Given the description of an element on the screen output the (x, y) to click on. 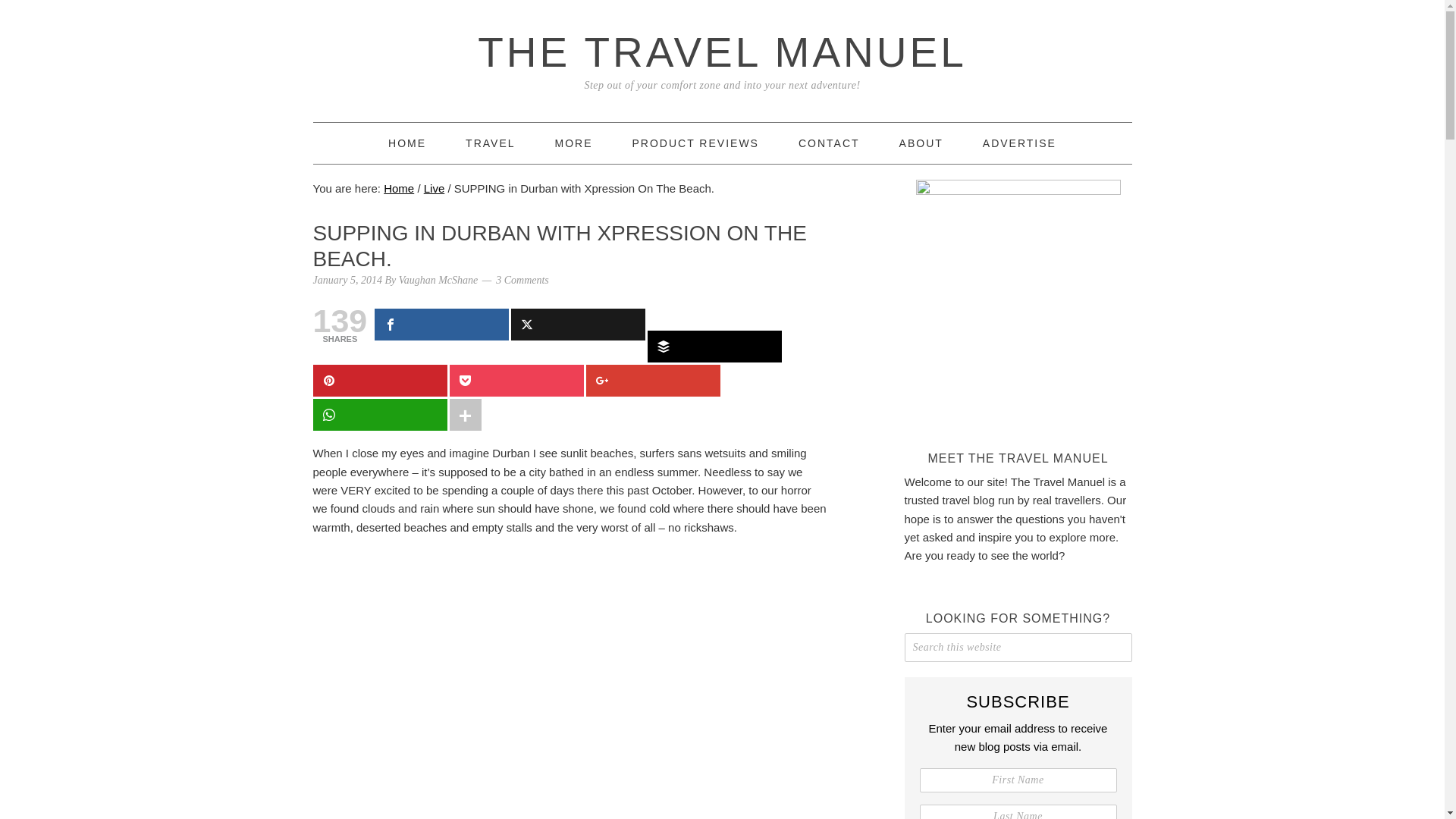
Twitter (578, 324)
Live (434, 187)
TRAVEL (490, 142)
3 Comments (522, 279)
ABOUT (921, 142)
CONTACT (828, 142)
Facebook (441, 324)
Home (407, 142)
Vaughan McShane (438, 279)
PRODUCT REVIEWS (694, 142)
ADVERTISE (1019, 142)
HOME (407, 142)
Stumbleupon (714, 318)
